Given the description of an element on the screen output the (x, y) to click on. 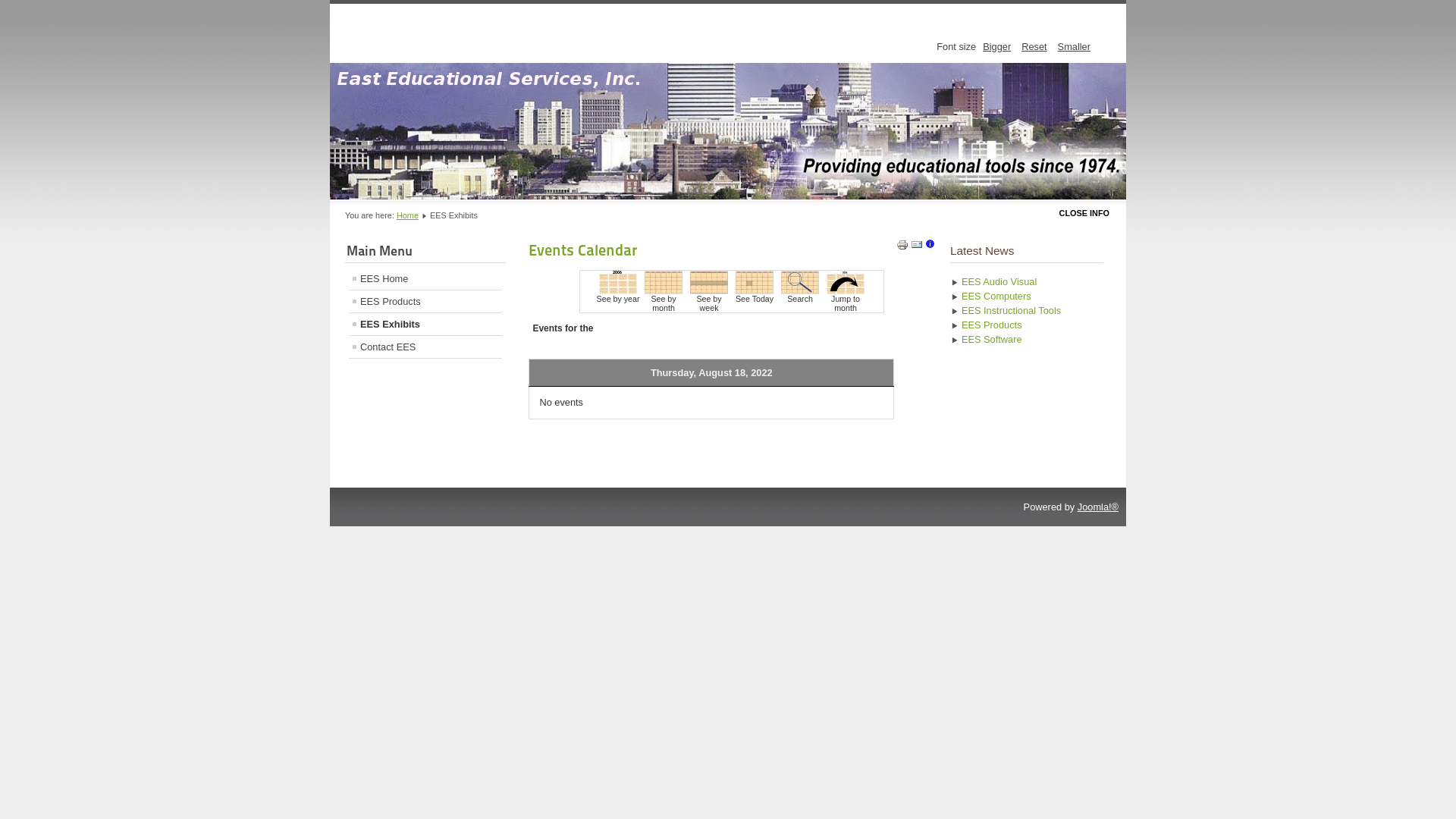
See by week Element type: hover (709, 290)
Print Element type: hover (902, 247)
EES Instructional Tools Element type: text (1026, 310)
Search Element type: hover (800, 290)
See Today Element type: hover (754, 290)
Reset Element type: text (1033, 46)
See by year Element type: hover (618, 290)
EES Products Element type: text (1026, 324)
Jump to month Element type: hover (845, 290)
EMAIL Element type: hover (916, 247)
Contact EES Element type: text (425, 346)
EES Software Element type: text (1026, 339)
EES Products Element type: text (425, 301)
Bigger Element type: text (996, 46)
EES Home Element type: text (425, 278)
EES Exhibits Element type: text (425, 324)
Smaller Element type: text (1074, 46)
EES Audio Visual Element type: text (1026, 281)
See by month Element type: hover (663, 290)
EES Computers Element type: text (1026, 295)
Home Element type: text (407, 214)
